Given the description of an element on the screen output the (x, y) to click on. 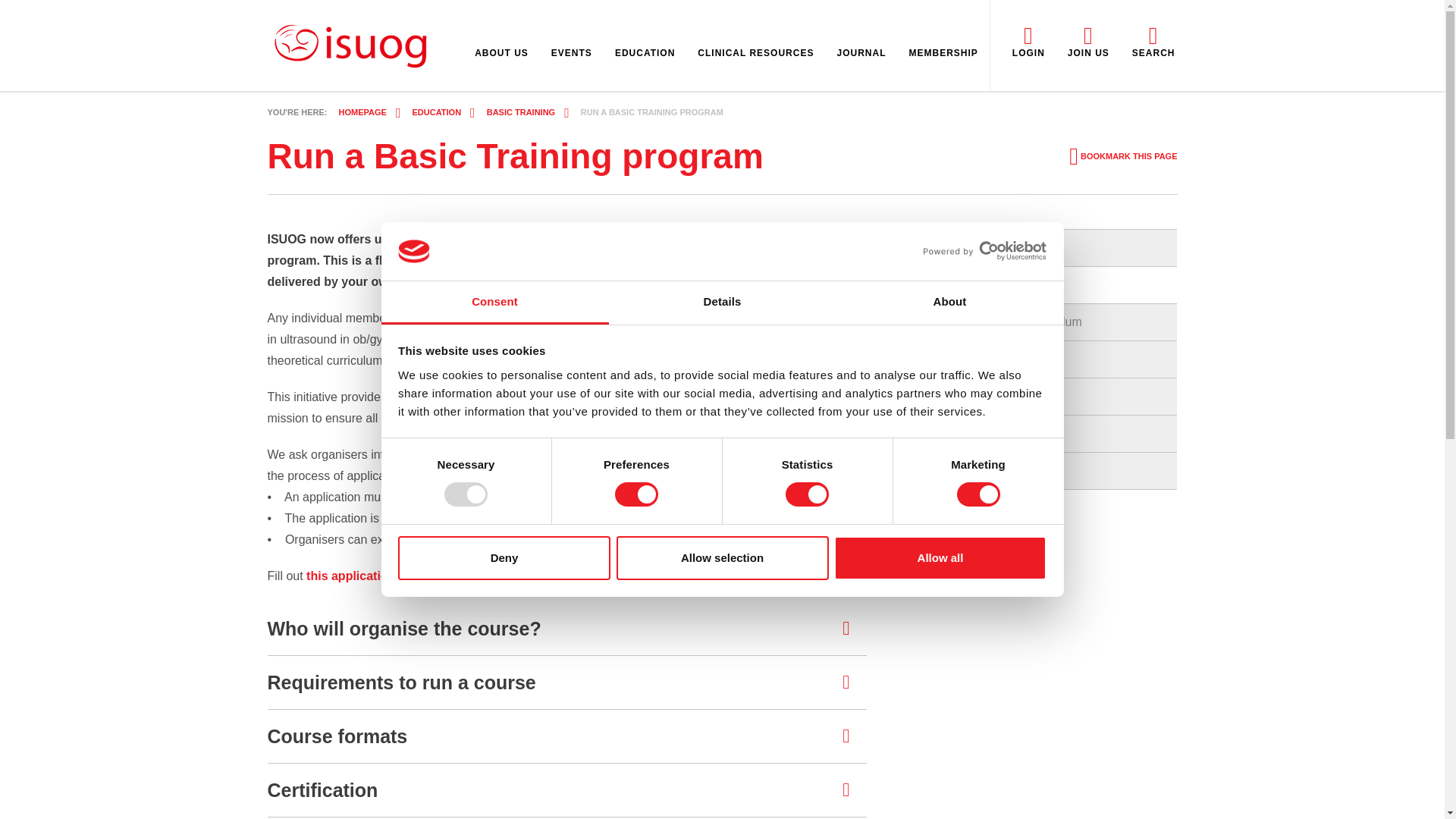
About (948, 302)
Consent (494, 302)
Details (721, 302)
